Given the description of an element on the screen output the (x, y) to click on. 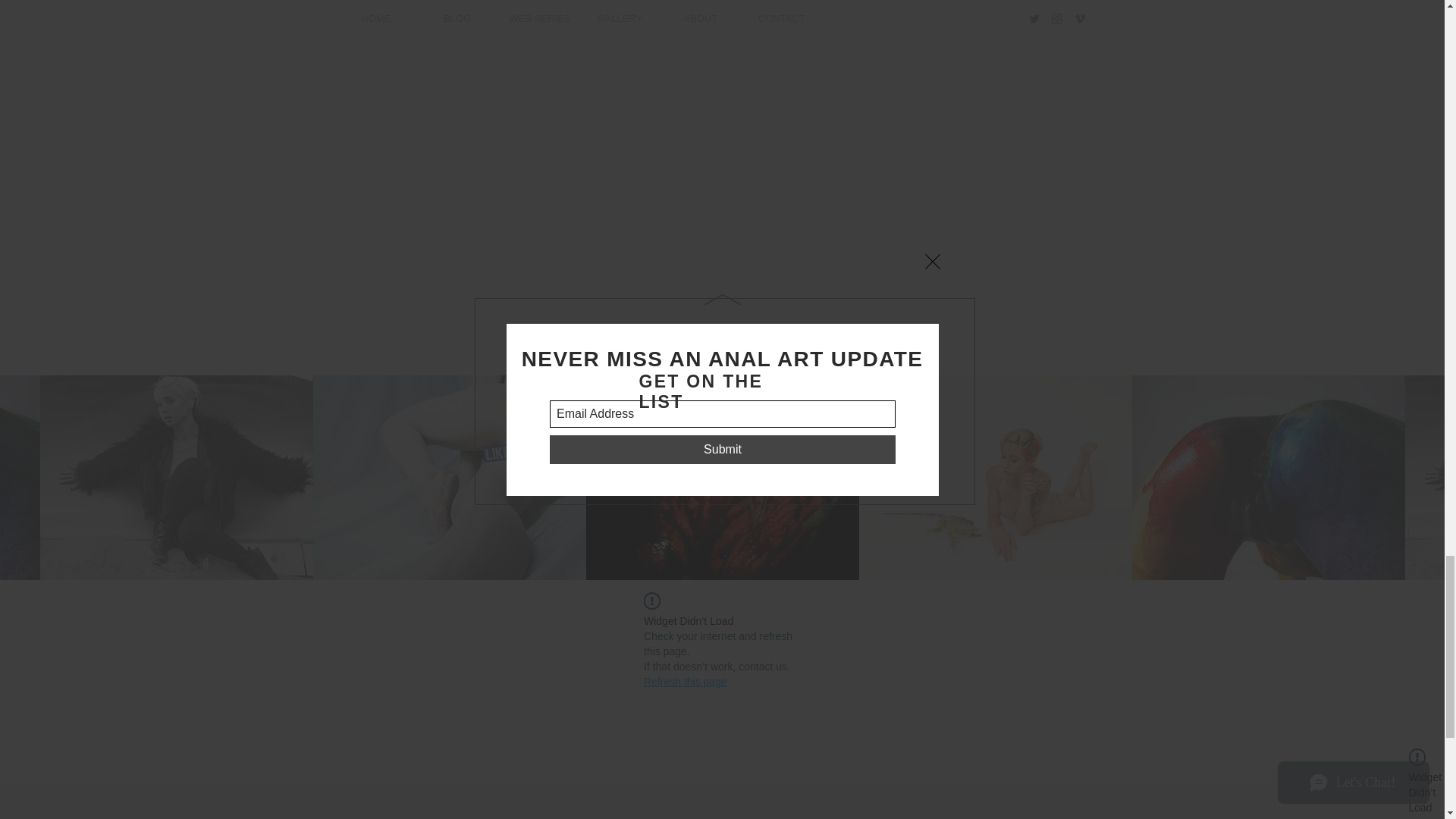
Refresh this page (684, 681)
